Given the description of an element on the screen output the (x, y) to click on. 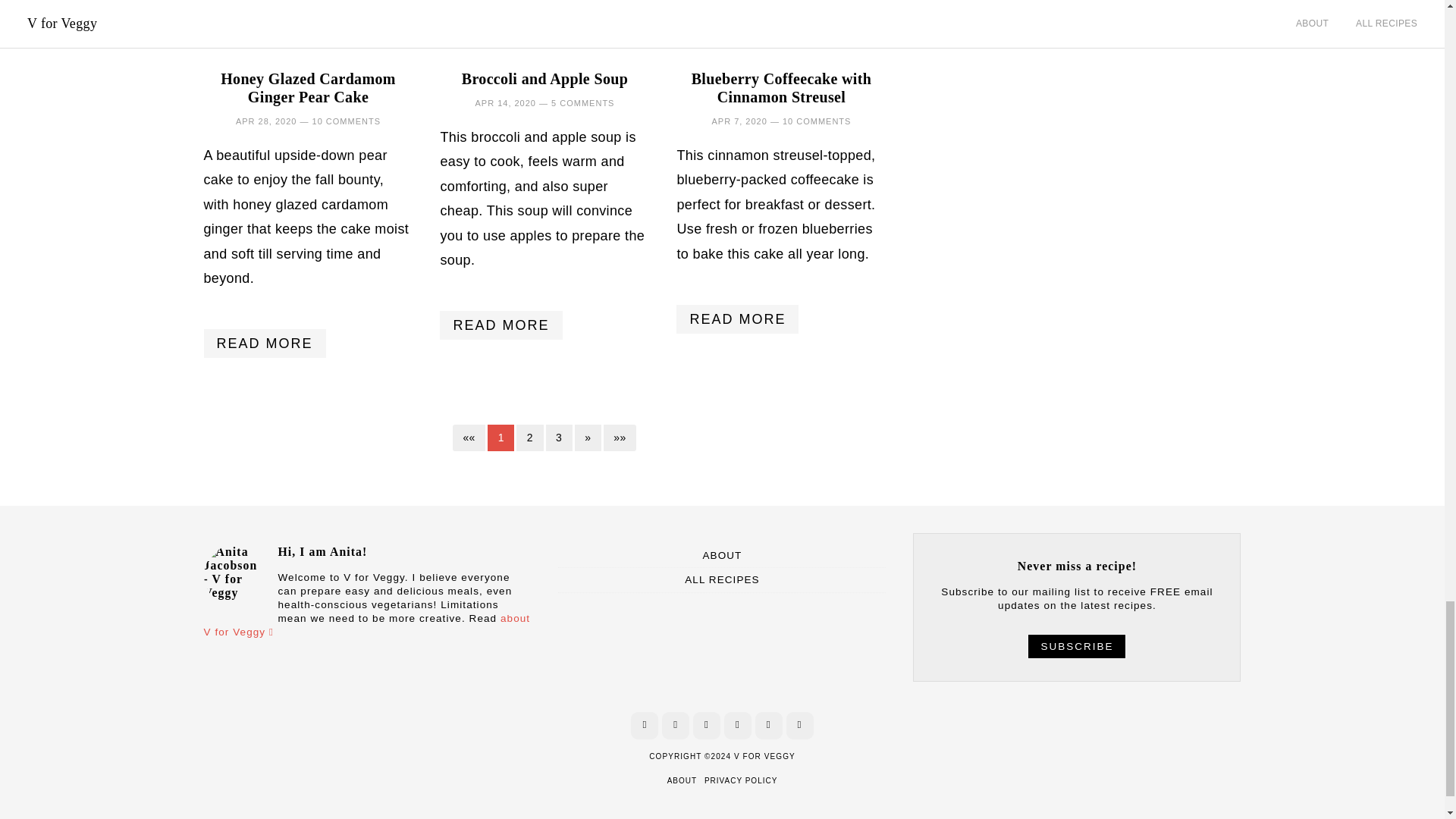
Twitter (737, 725)
RSS (799, 725)
Email (769, 725)
Facebook (644, 725)
Pinterest (675, 725)
Anita Jacobson - V for Veggy (233, 575)
Instagram (706, 725)
